Given the description of an element on the screen output the (x, y) to click on. 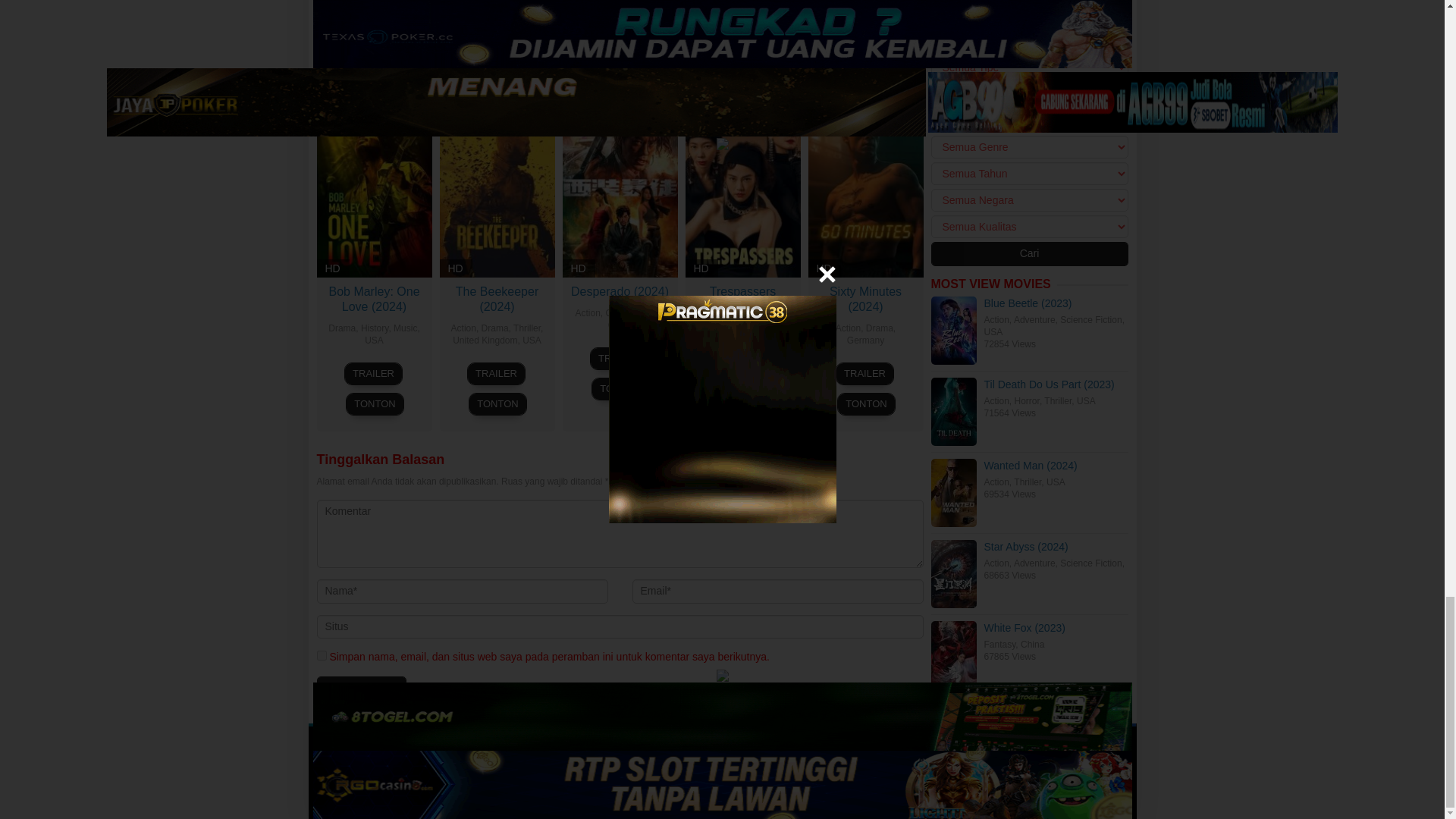
yes (321, 655)
Kirim Komentar (361, 688)
